Given the description of an element on the screen output the (x, y) to click on. 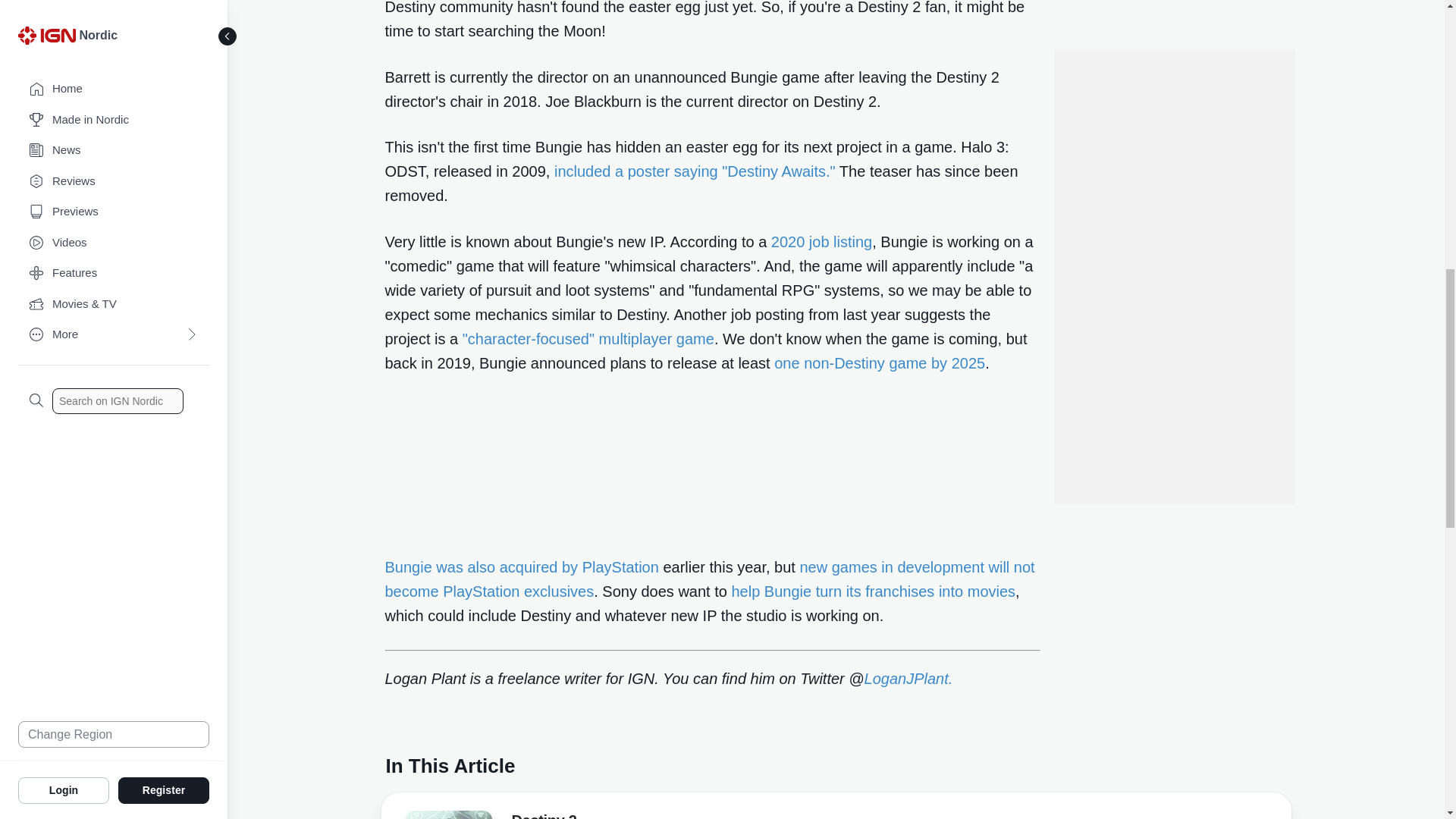
3rd party ad content (1173, 46)
Destiny 2 (543, 815)
Destiny 2 (448, 814)
Destiny 2 (448, 816)
